Given the description of an element on the screen output the (x, y) to click on. 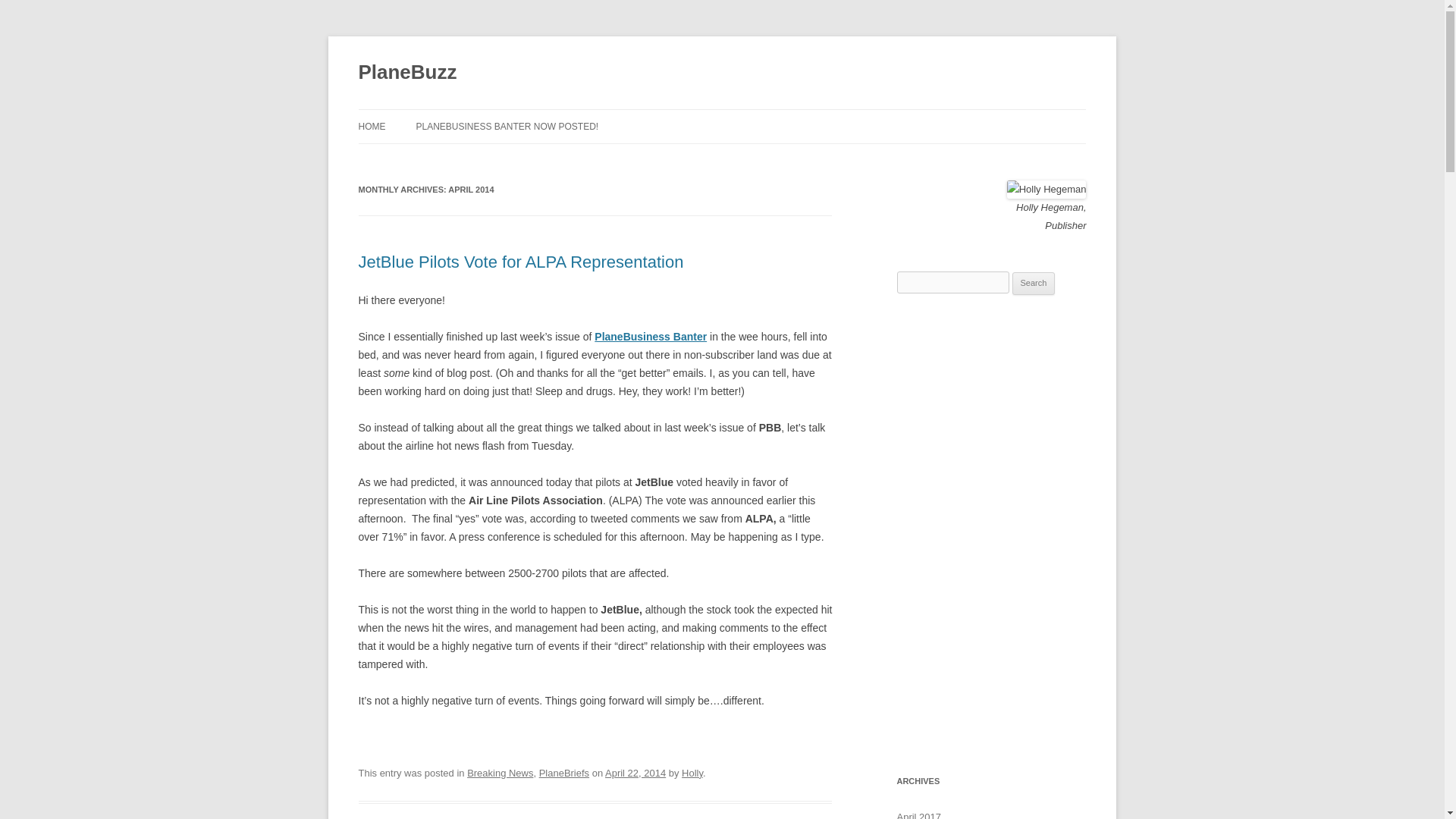
April 22, 2014 (635, 772)
PlaneBriefs (563, 772)
April 2017 (918, 815)
JetBlue Pilots Vote for ALPA Representation (520, 261)
Search (1033, 282)
PlaneBusiness Banter (650, 336)
View all posts by Holly (692, 772)
PLANEBUSINESS BANTER NOW POSTED! (506, 126)
2:43 pm (635, 772)
